Given the description of an element on the screen output the (x, y) to click on. 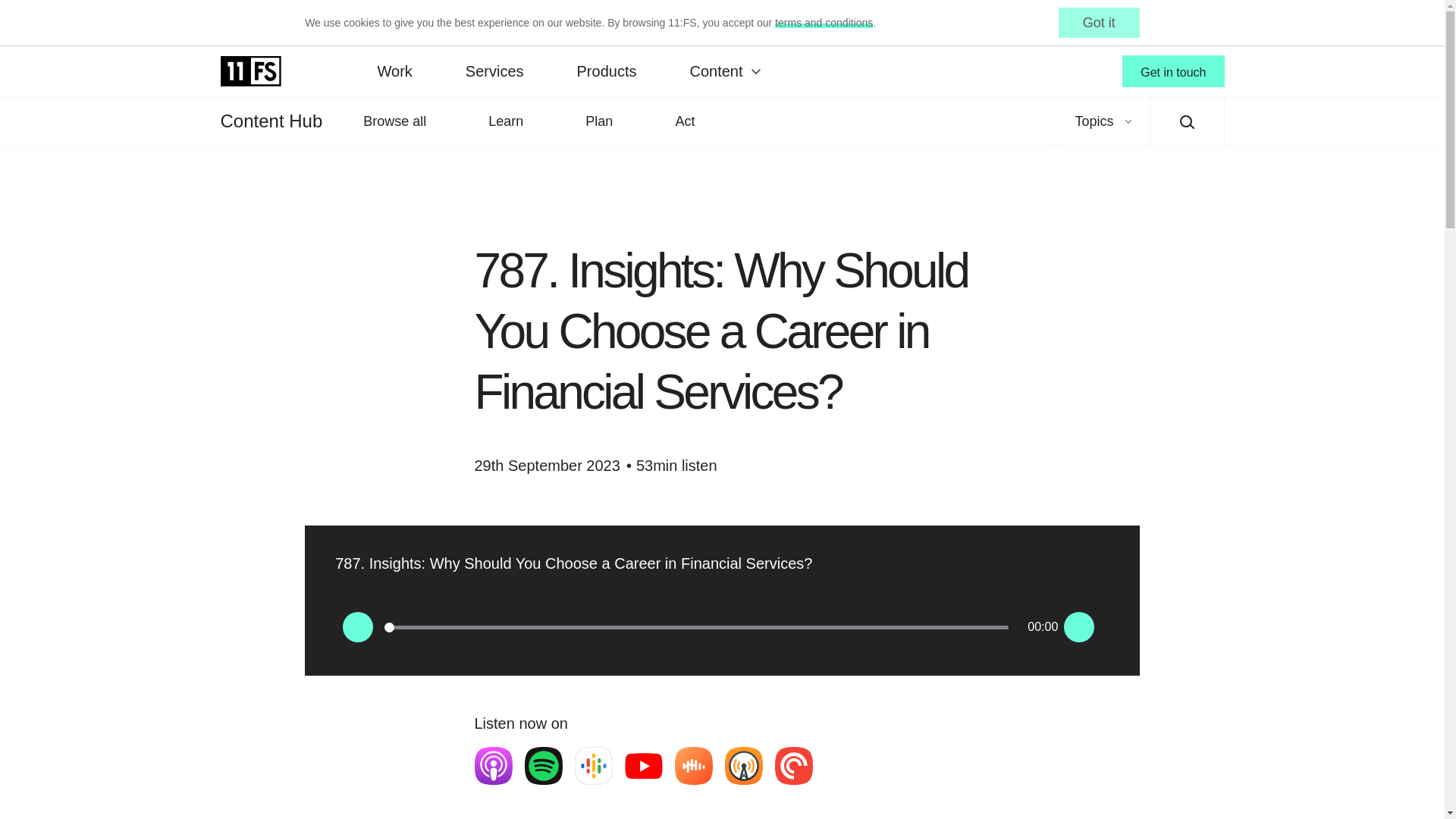
Get in touch (1173, 70)
Listen to Fintech Insider on Castbox (694, 765)
Listen to Fintech Insider on Google Podcasts (593, 765)
Listen to Fintech Insider on Pocket Casts (793, 765)
Content Hub (270, 120)
Products (606, 71)
Content (723, 71)
Work (395, 71)
Got it (1099, 22)
Listen to Fintech Insider on Overcast (743, 765)
